Given the description of an element on the screen output the (x, y) to click on. 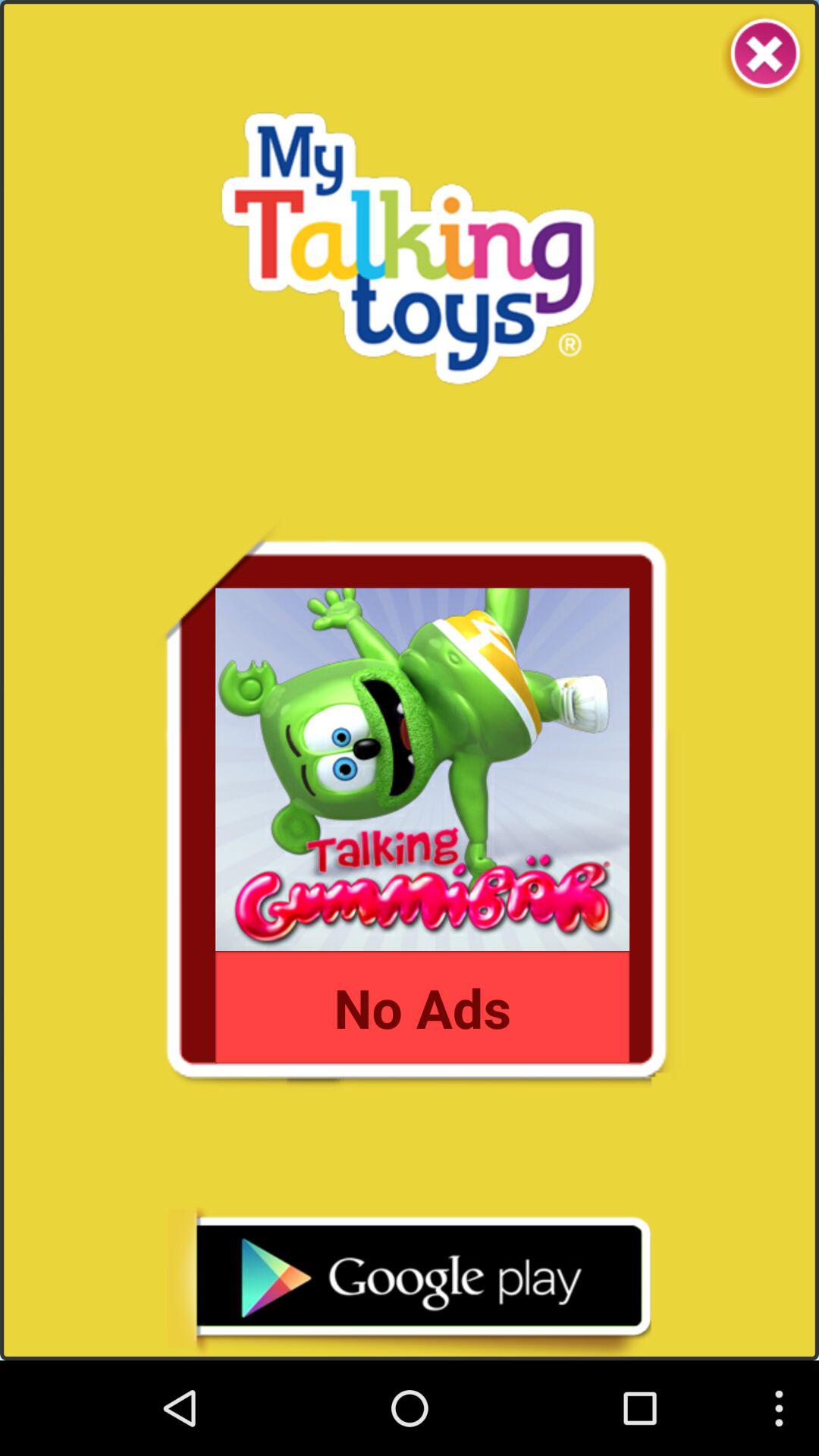
close the app (762, 55)
